Given the description of an element on the screen output the (x, y) to click on. 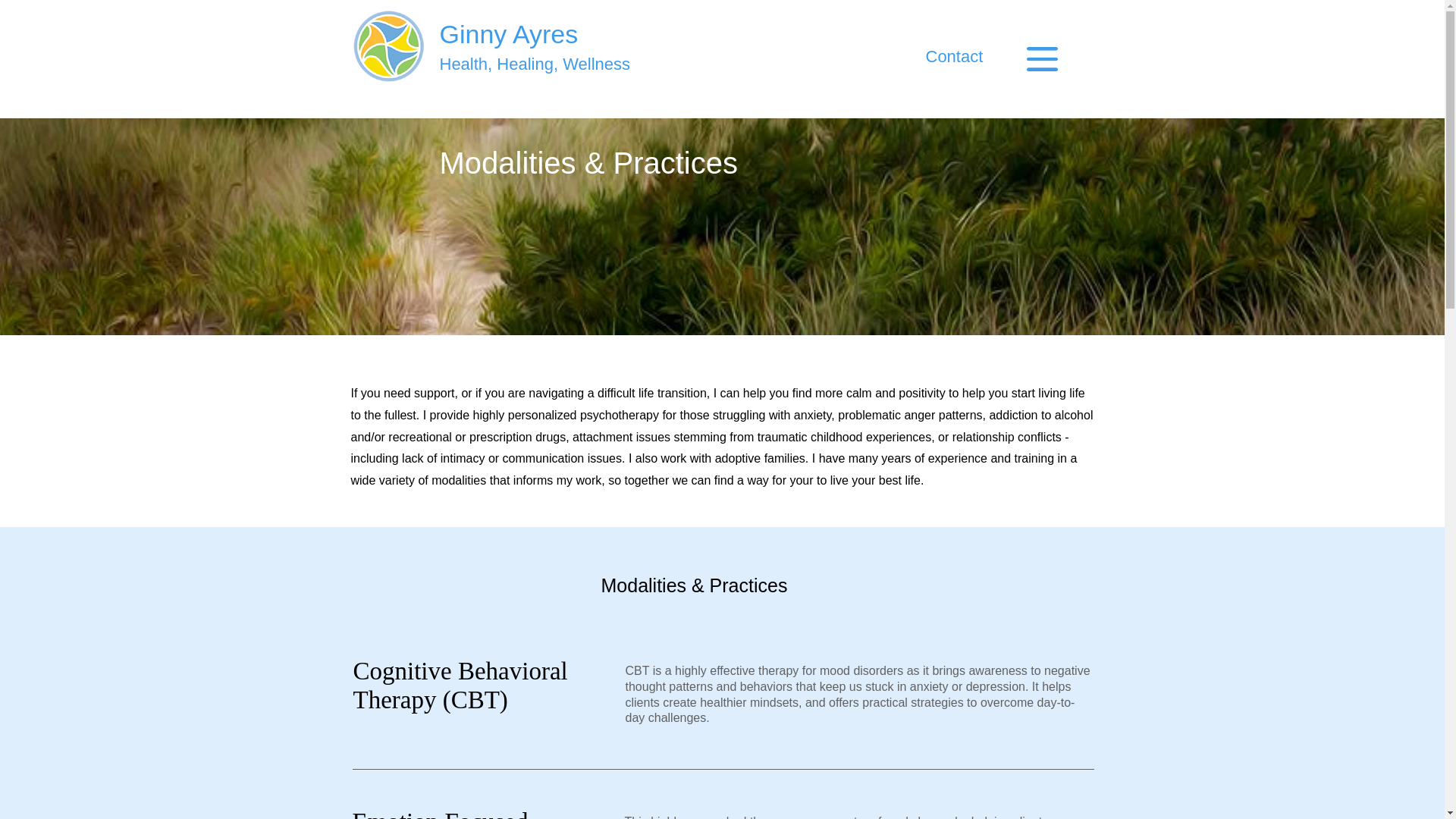
Contact (953, 56)
Ginny Ayres (508, 33)
